Given the description of an element on the screen output the (x, y) to click on. 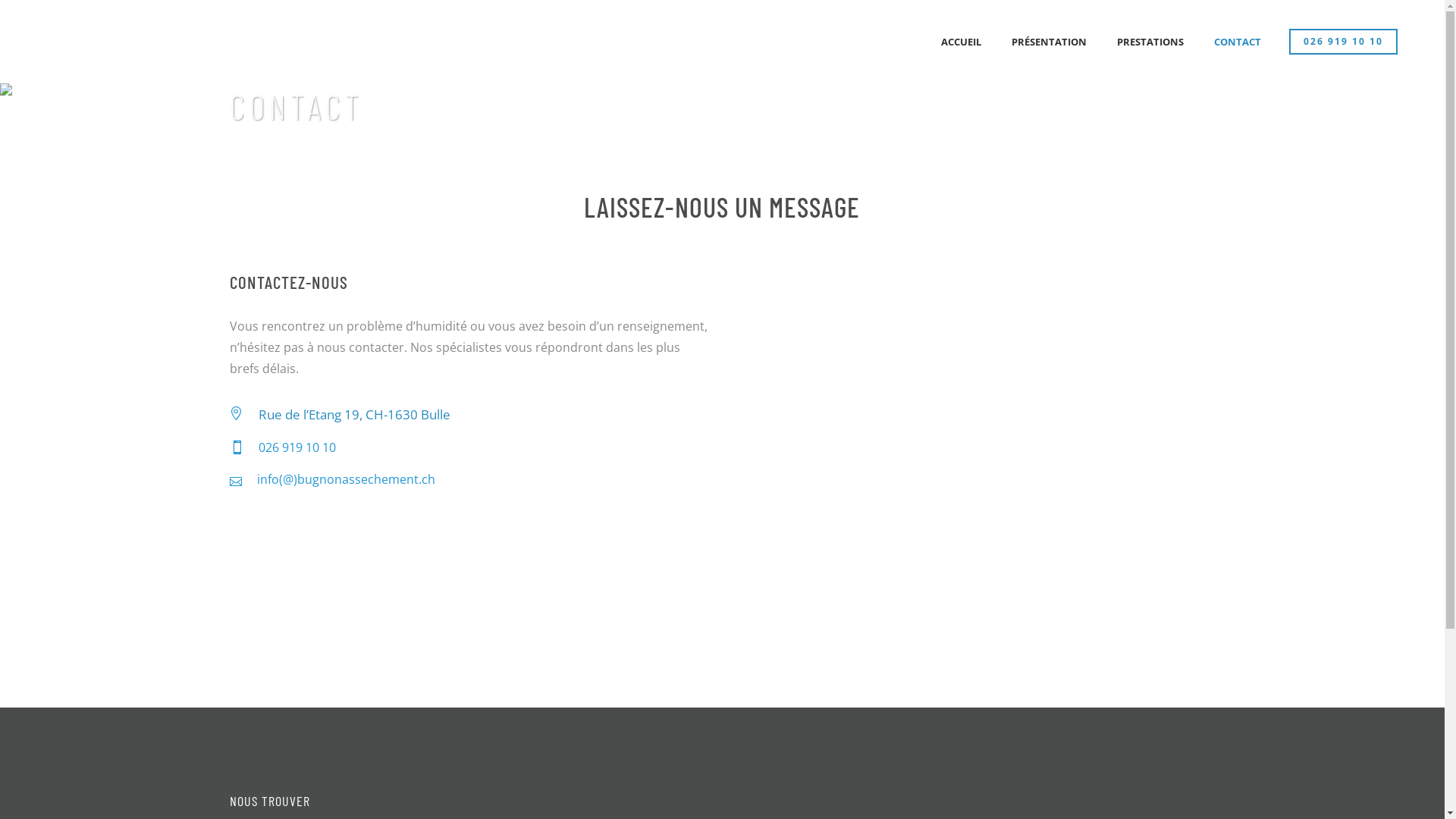
ACCUEIL Element type: text (960, 41)
CONTACT Element type: text (1237, 41)
PRESTATIONS Element type: text (1149, 41)
info(@)bugnonassechement.ch Element type: text (345, 479)
026 919 10 10 Element type: text (1343, 41)
026 919 10 10 Element type: text (296, 447)
